Given the description of an element on the screen output the (x, y) to click on. 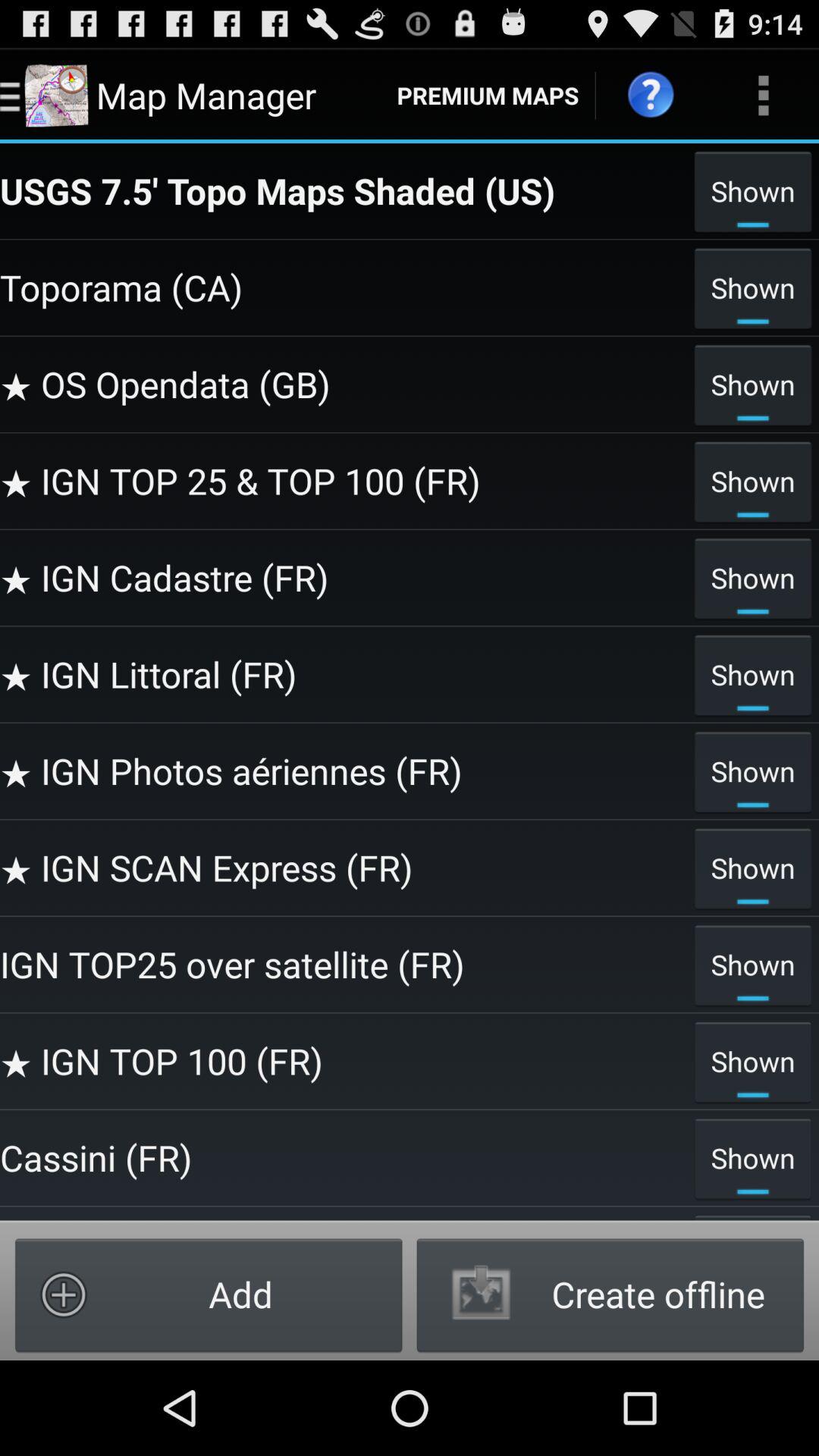
turn on icon above shown (763, 95)
